Given the description of an element on the screen output the (x, y) to click on. 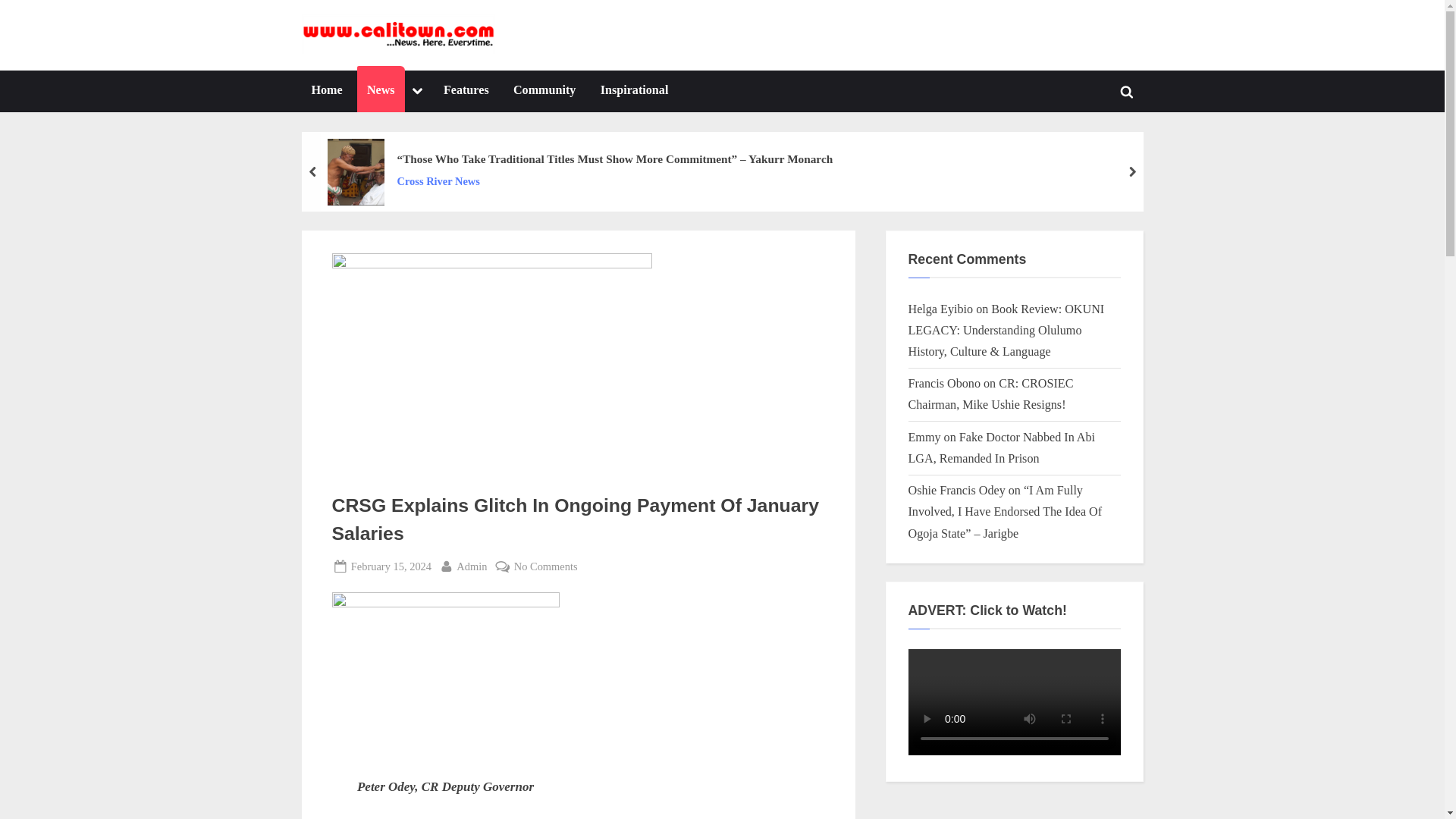
News (380, 91)
Features (466, 91)
Cross River News (390, 565)
calitown (614, 180)
Toggle sub-menu (530, 46)
Community (417, 91)
Home (471, 565)
Toggle search form (544, 91)
